Given the description of an element on the screen output the (x, y) to click on. 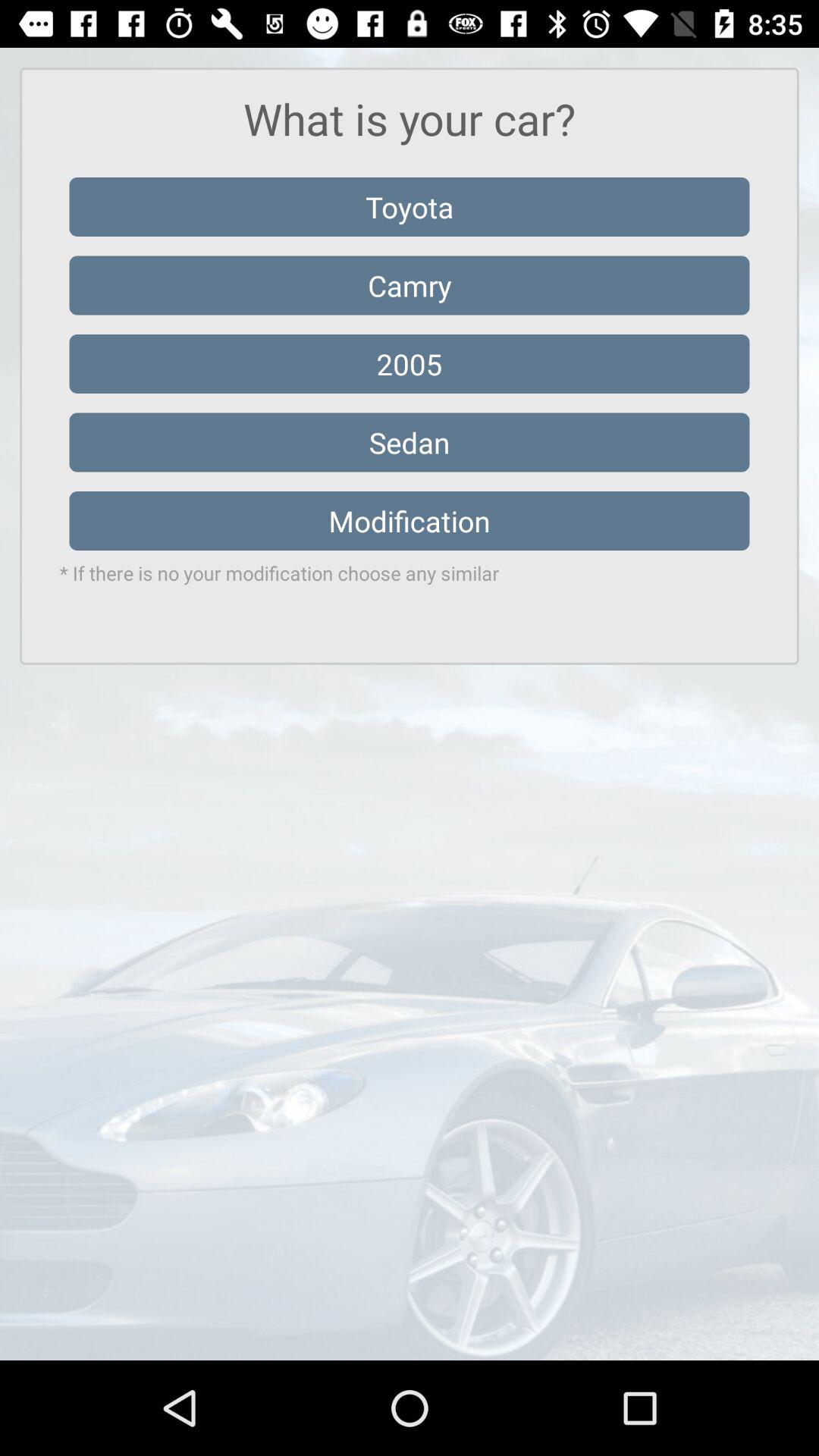
launch the icon below what is your item (409, 206)
